Given the description of an element on the screen output the (x, y) to click on. 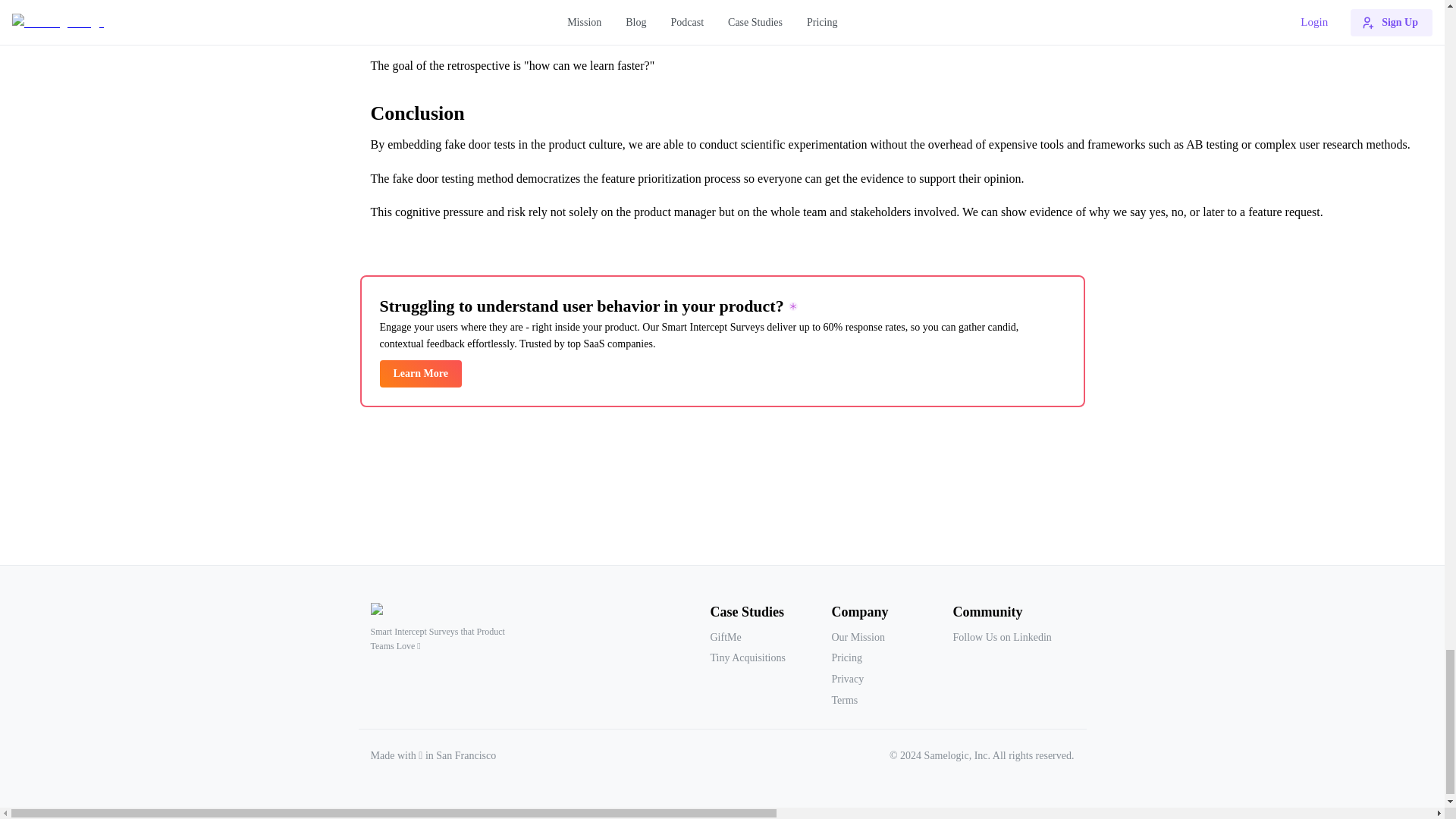
Follow Us on Linkedin (1013, 637)
Our Mission (891, 637)
Pricing (891, 658)
Tiny Acquisitions (770, 658)
GiftMe (770, 637)
Learn More (419, 373)
Terms (891, 700)
Privacy (891, 679)
